Given the description of an element on the screen output the (x, y) to click on. 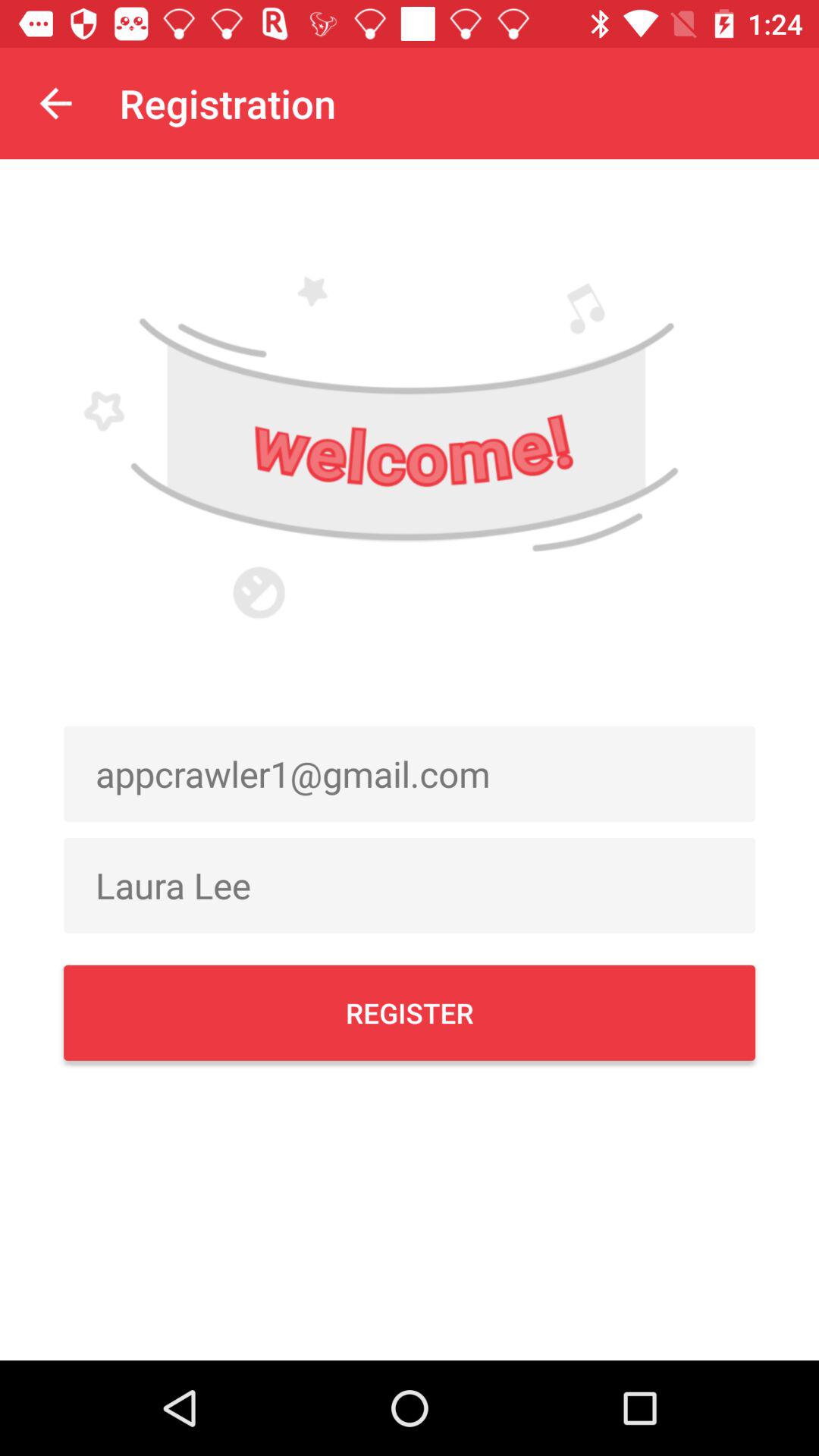
open register (409, 1012)
